Given the description of an element on the screen output the (x, y) to click on. 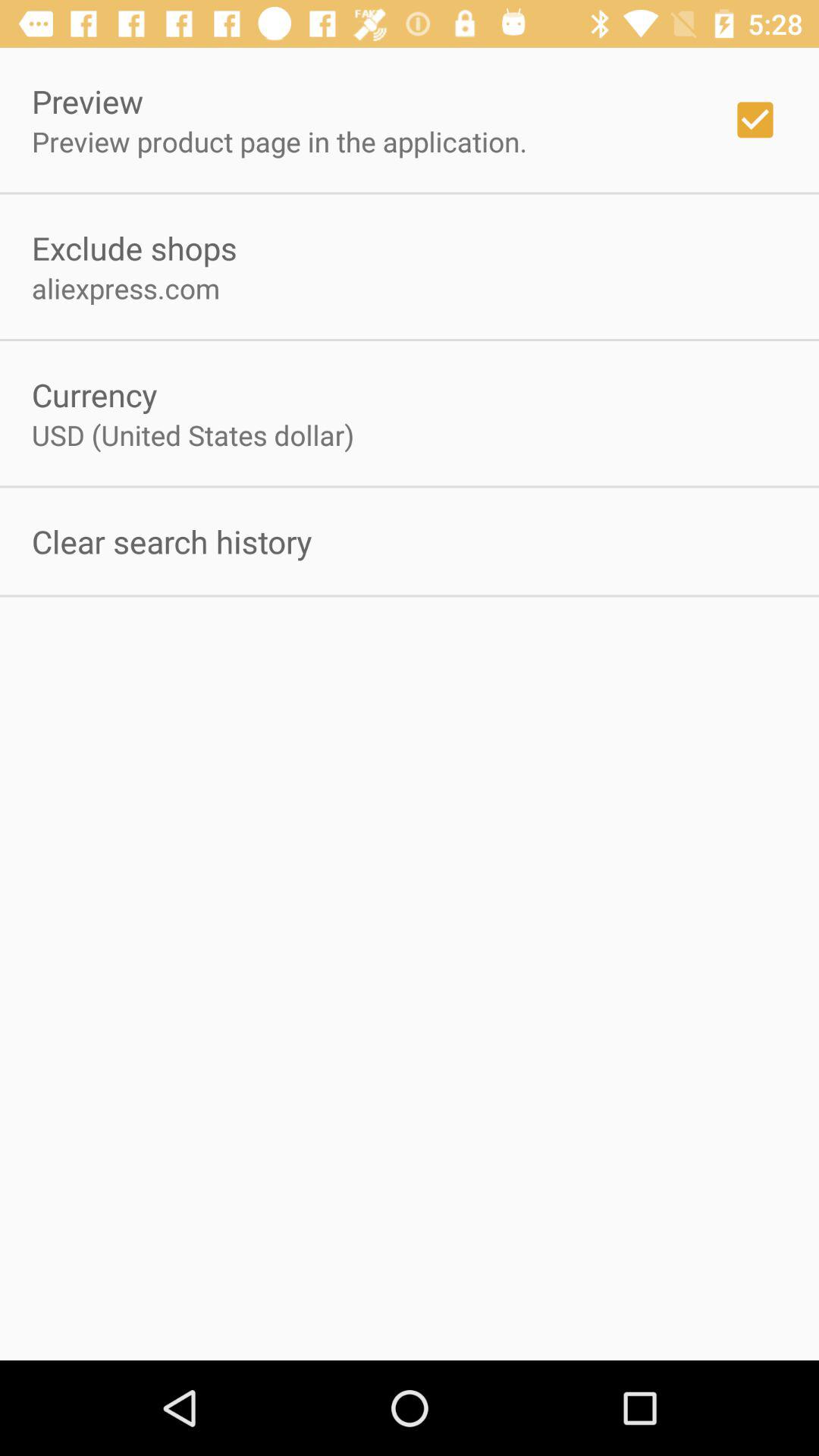
open app below the exclude shops icon (125, 288)
